Given the description of an element on the screen output the (x, y) to click on. 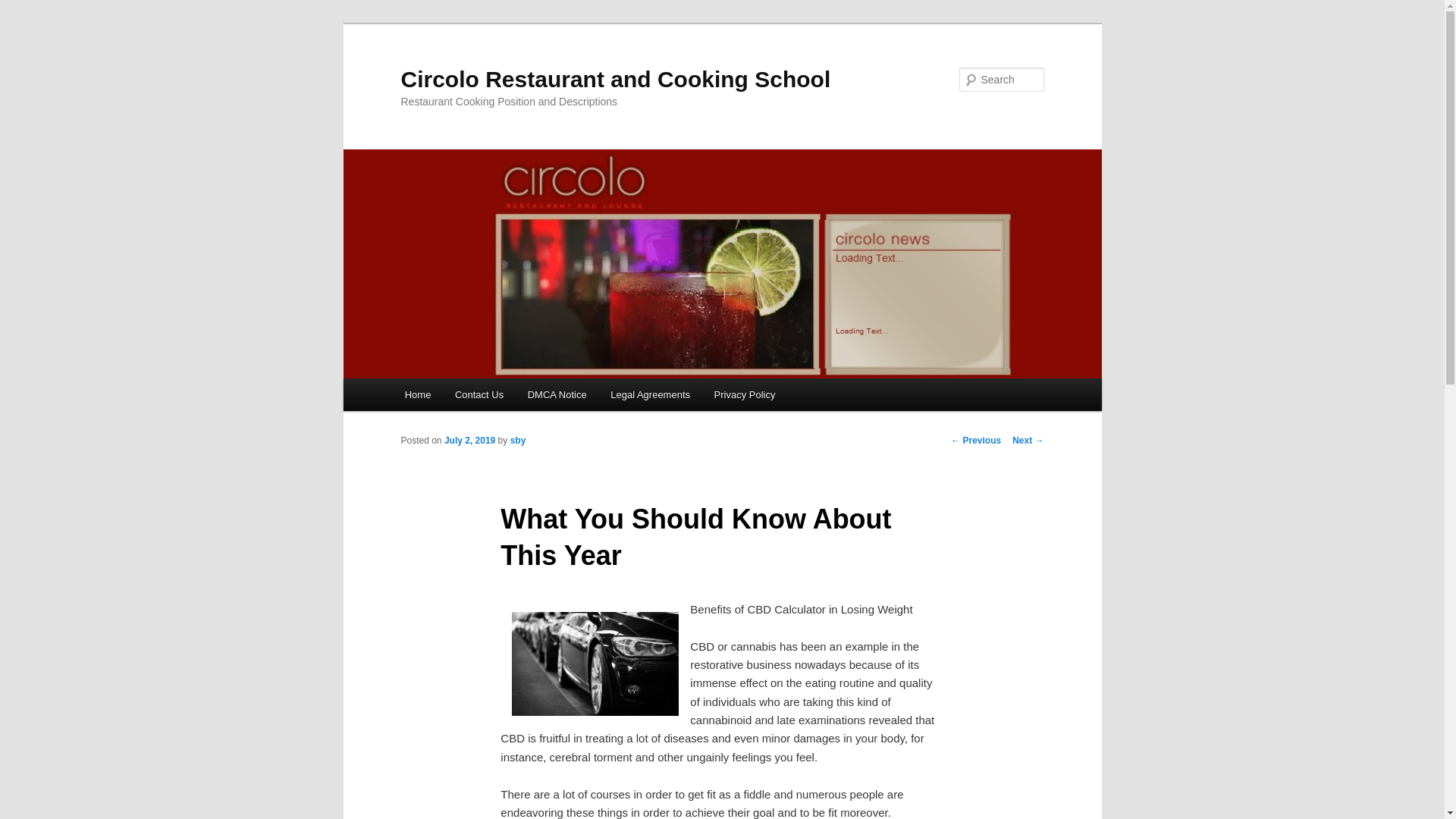
Home (417, 394)
DMCA Notice (556, 394)
View all posts by sby (518, 439)
Skip to primary content (472, 397)
Search (24, 8)
3:47 pm (469, 439)
sby (518, 439)
July 2, 2019 (469, 439)
Privacy Policy (744, 394)
Circolo Restaurant and Cooking School (614, 78)
Legal Agreements (649, 394)
Contact Us (478, 394)
Search (21, 11)
